Given the description of an element on the screen output the (x, y) to click on. 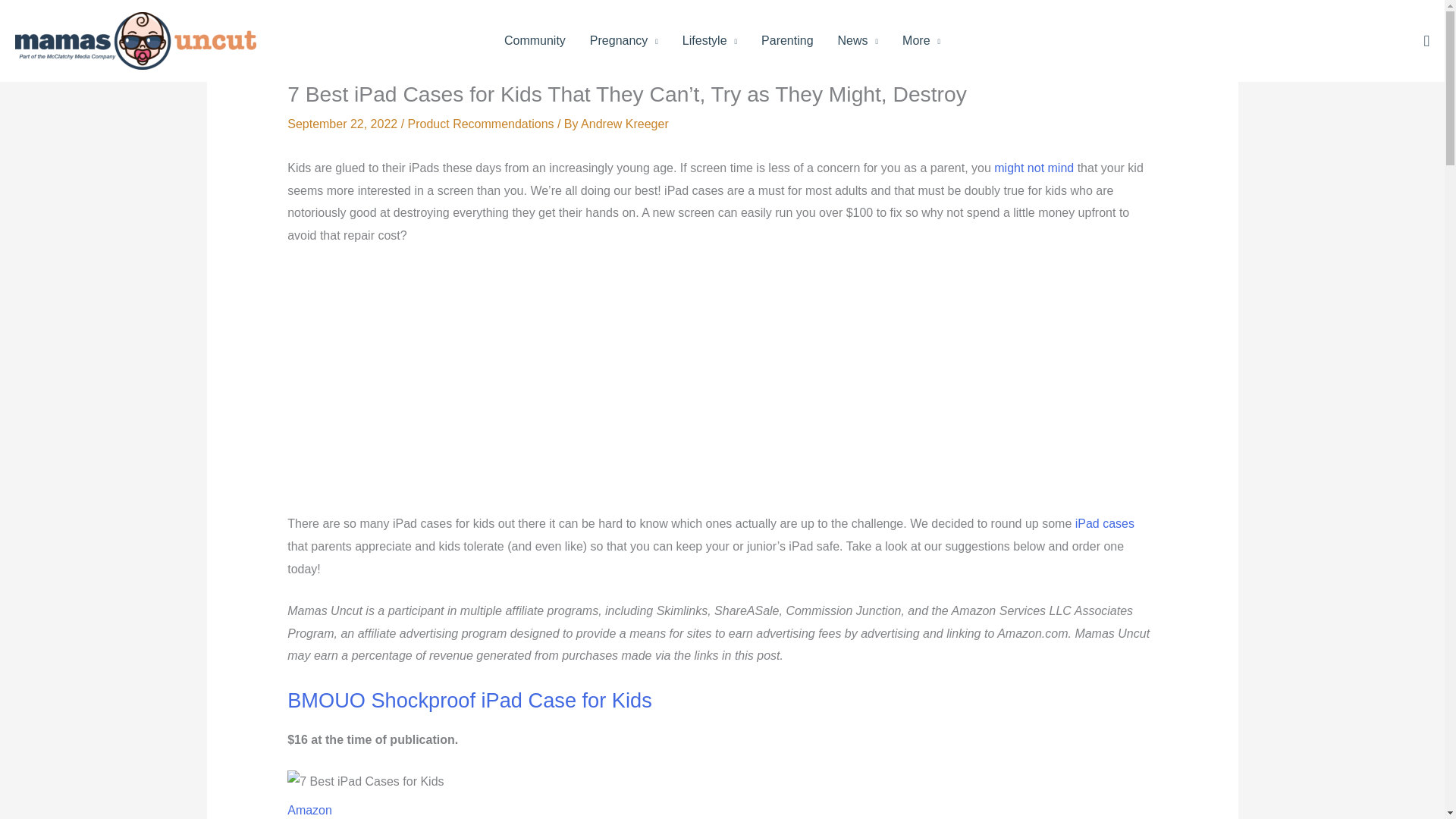
News (858, 40)
Lifestyle (709, 40)
Pregnancy (623, 40)
Community (535, 40)
YouTube video player (498, 385)
Parenting (787, 40)
More (920, 40)
View all posts by Andrew Kreeger (624, 123)
